Given the description of an element on the screen output the (x, y) to click on. 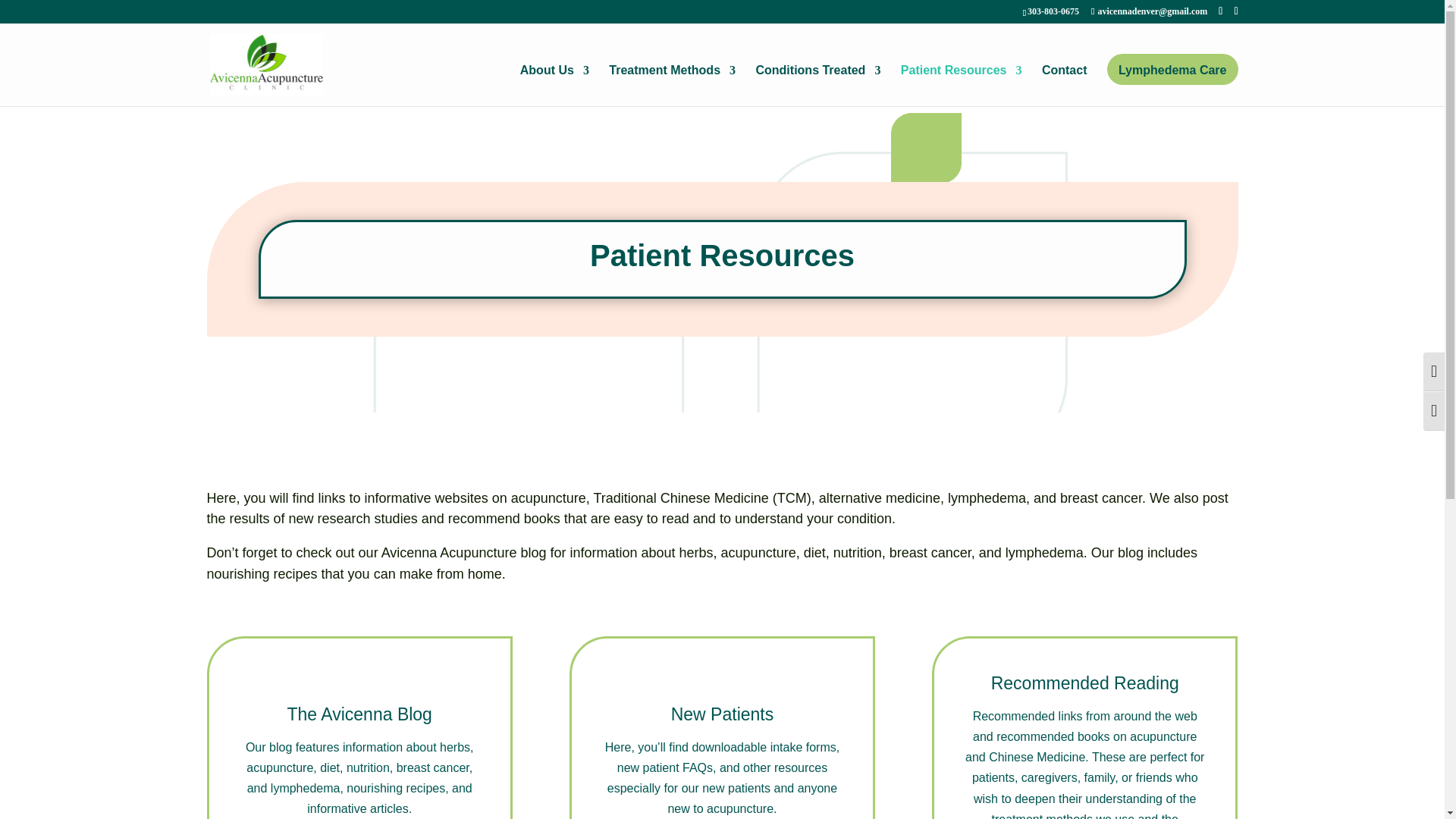
Treatment Methods (671, 85)
Lymphedema Care (1172, 85)
Patient Resources (961, 85)
Conditions Treated (817, 85)
Contact (1064, 85)
About Us (554, 85)
303-803-0675 (1052, 10)
